Given the description of an element on the screen output the (x, y) to click on. 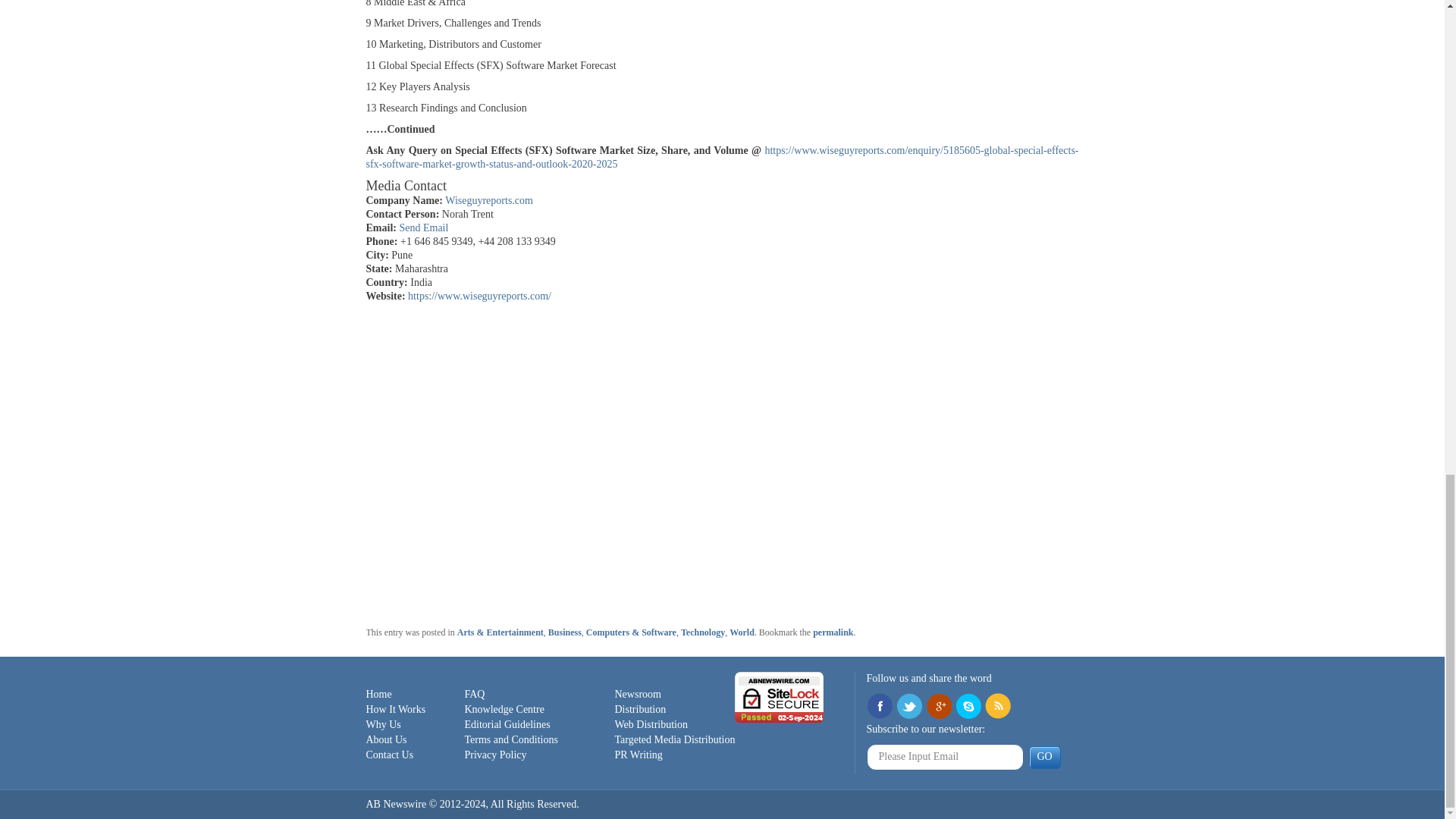
Please Input Email (944, 756)
SiteLock (779, 696)
GO (1043, 757)
